Given the description of an element on the screen output the (x, y) to click on. 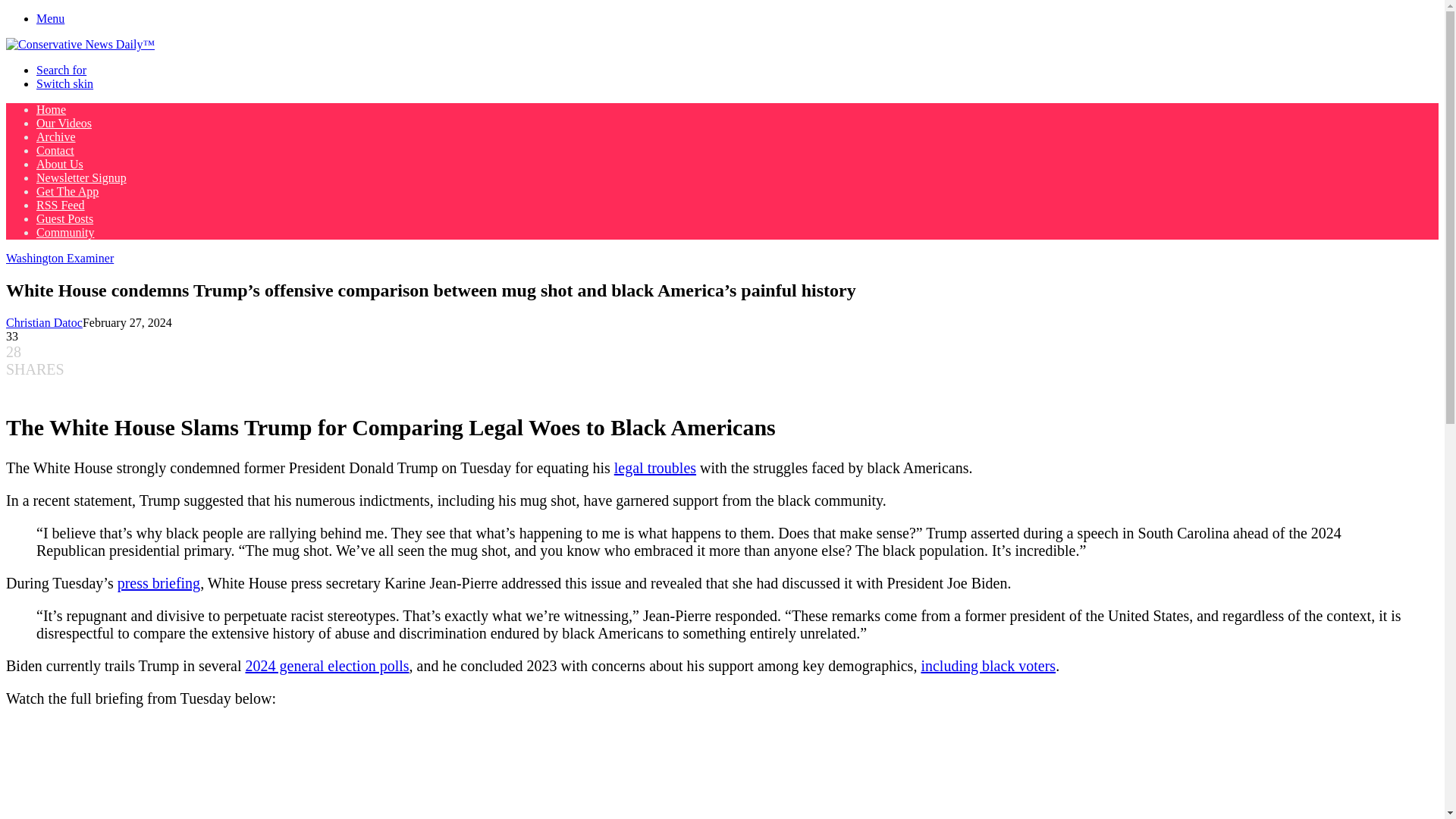
RSS Feed (60, 205)
Randy Quaid Considering Run For California Governor (654, 467)
Contact (55, 150)
2024 general election polls (327, 665)
Switch skin (64, 83)
including black voters (987, 665)
About Us (59, 164)
Home (50, 109)
Switch skin (64, 83)
